Given the description of an element on the screen output the (x, y) to click on. 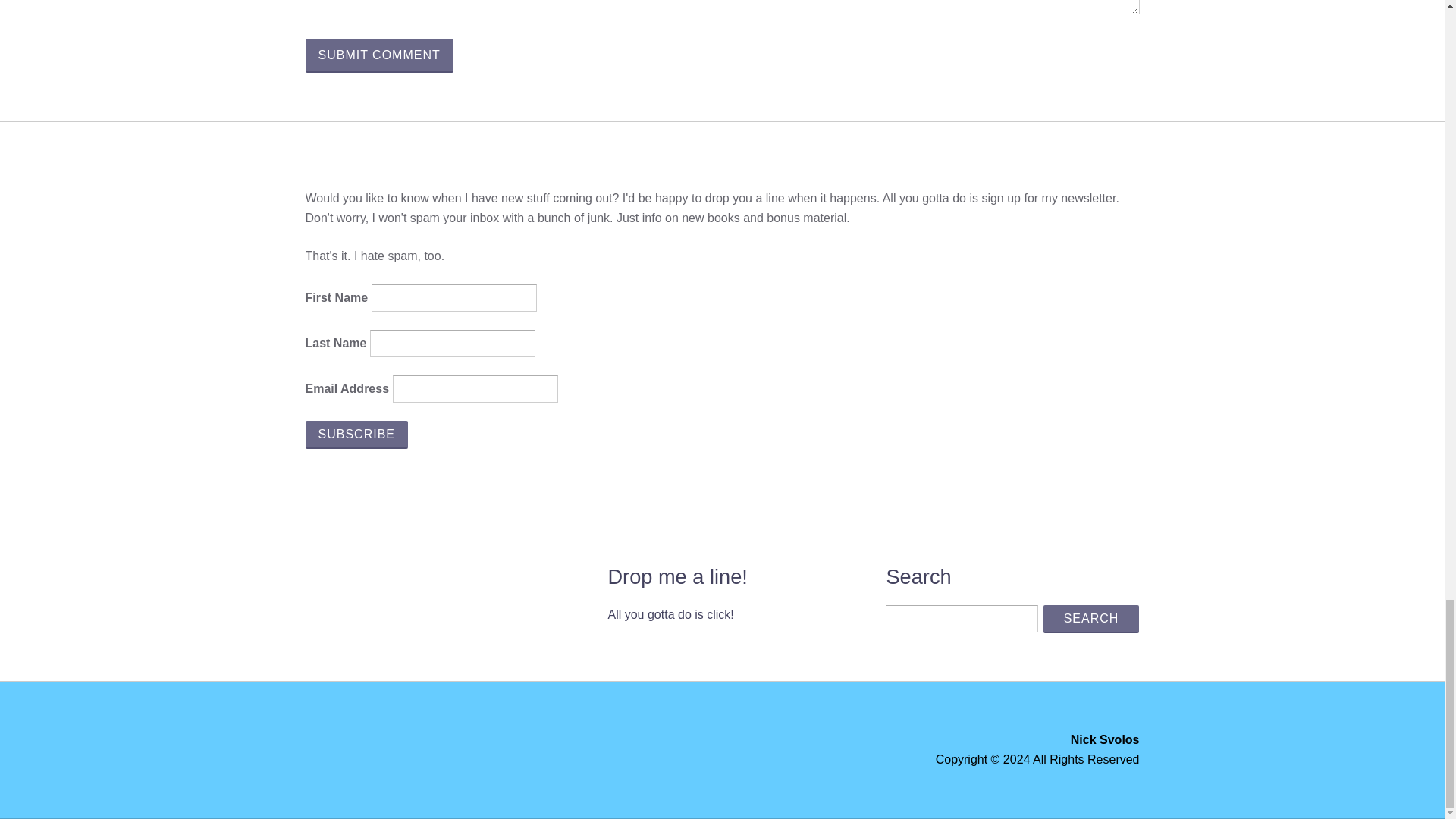
Search (1091, 619)
All you gotta do is click! (670, 614)
Subscribe (355, 434)
Submit Comment (378, 55)
Submit Comment (378, 55)
Subscribe (355, 434)
Search (1091, 619)
